Given the description of an element on the screen output the (x, y) to click on. 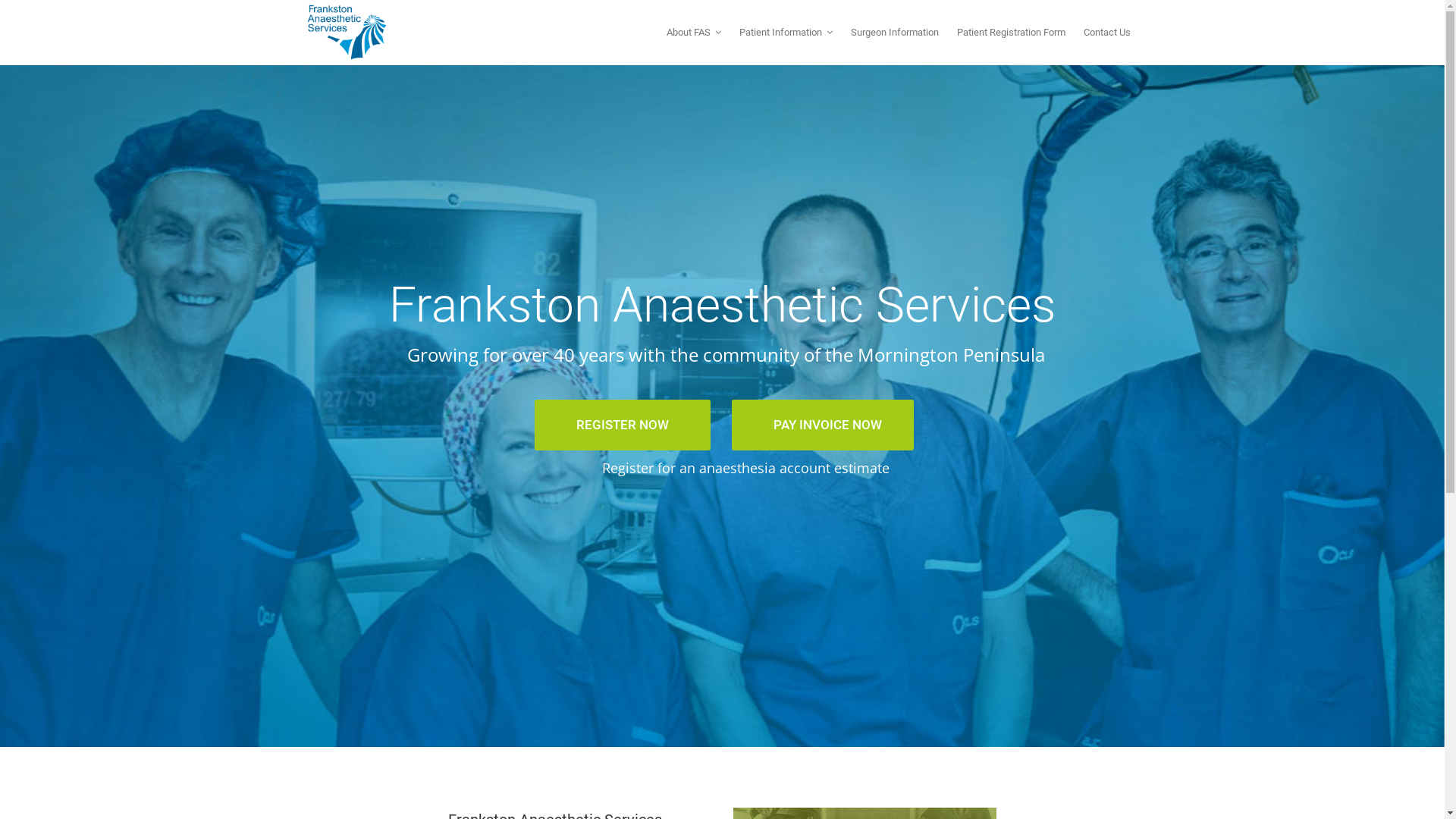
REGISTER NOW Element type: text (622, 424)
office@fasonline.com.au Element type: text (684, 709)
Surgeon Information Element type: text (894, 32)
Privacy Element type: text (891, 795)
Powered by 20-80 Solutions Element type: text (809, 795)
About FAS Element type: text (692, 32)
23-25 Hastings Rd
Frankston, Vic, 3199 Element type: text (645, 659)
(03) 9770 1388 Element type: text (666, 692)
Pay Invoice Now Element type: text (999, 668)
Patient Registration Form Element type: text (1010, 32)
Pay Invoice Now Element type: text (999, 668)
Contact Us Element type: text (1106, 32)
Patient Information Element type: text (784, 32)
